Given the description of an element on the screen output the (x, y) to click on. 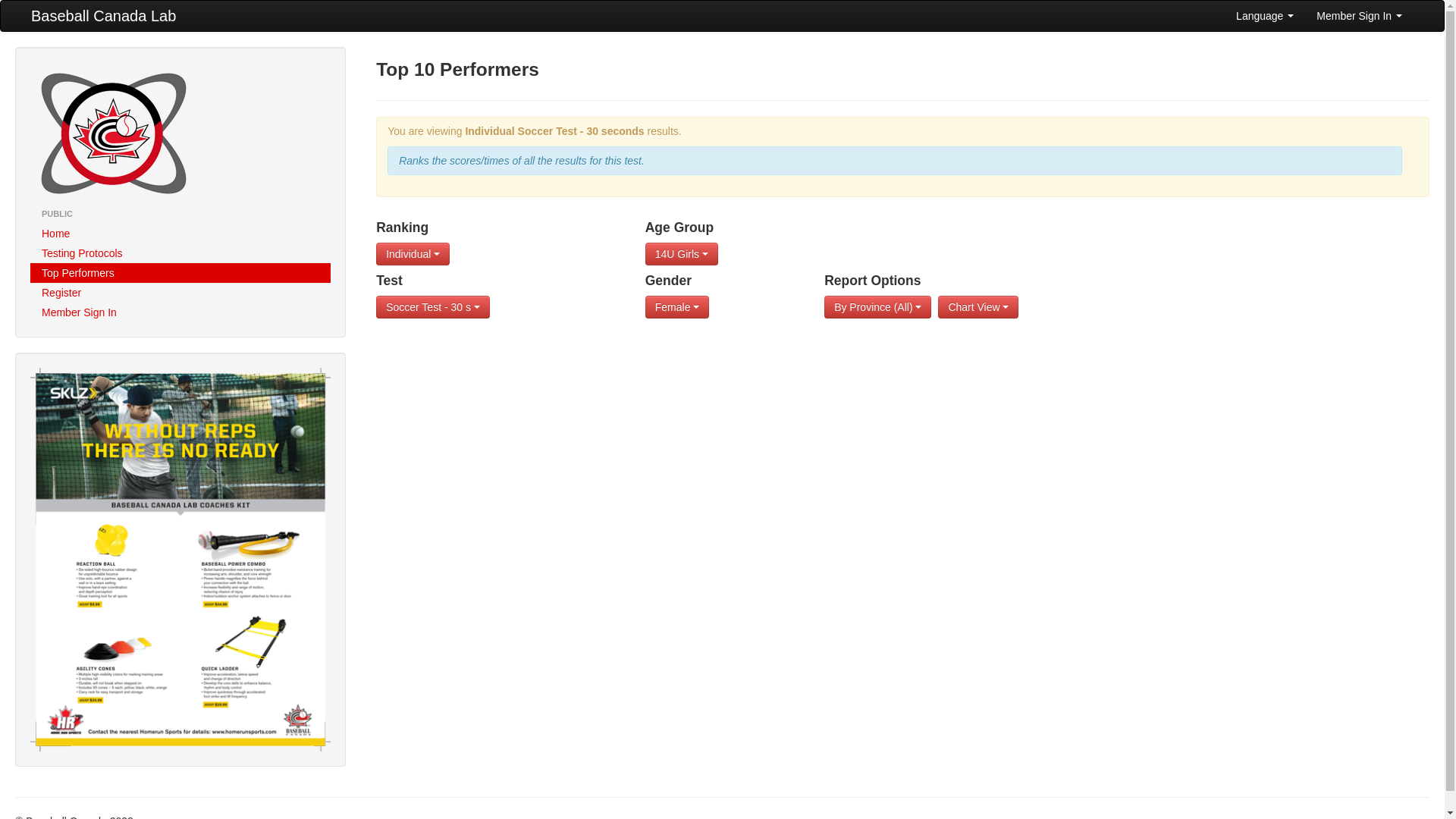
Baseball Canada Lab Element type: text (103, 15)
Chart View Element type: text (978, 306)
14U Girls Element type: text (681, 253)
Member Sign In Element type: text (1359, 15)
By Province (All) Element type: text (877, 306)
Female Element type: text (677, 306)
Soccer Test - 30 s Element type: text (432, 306)
Register Element type: text (180, 292)
Member Sign In Element type: text (180, 312)
Language Element type: text (1264, 15)
Top Performers Element type: text (180, 272)
Testing Protocols Element type: text (180, 253)
Home Element type: text (180, 233)
Individual Element type: text (412, 253)
